Given the description of an element on the screen output the (x, y) to click on. 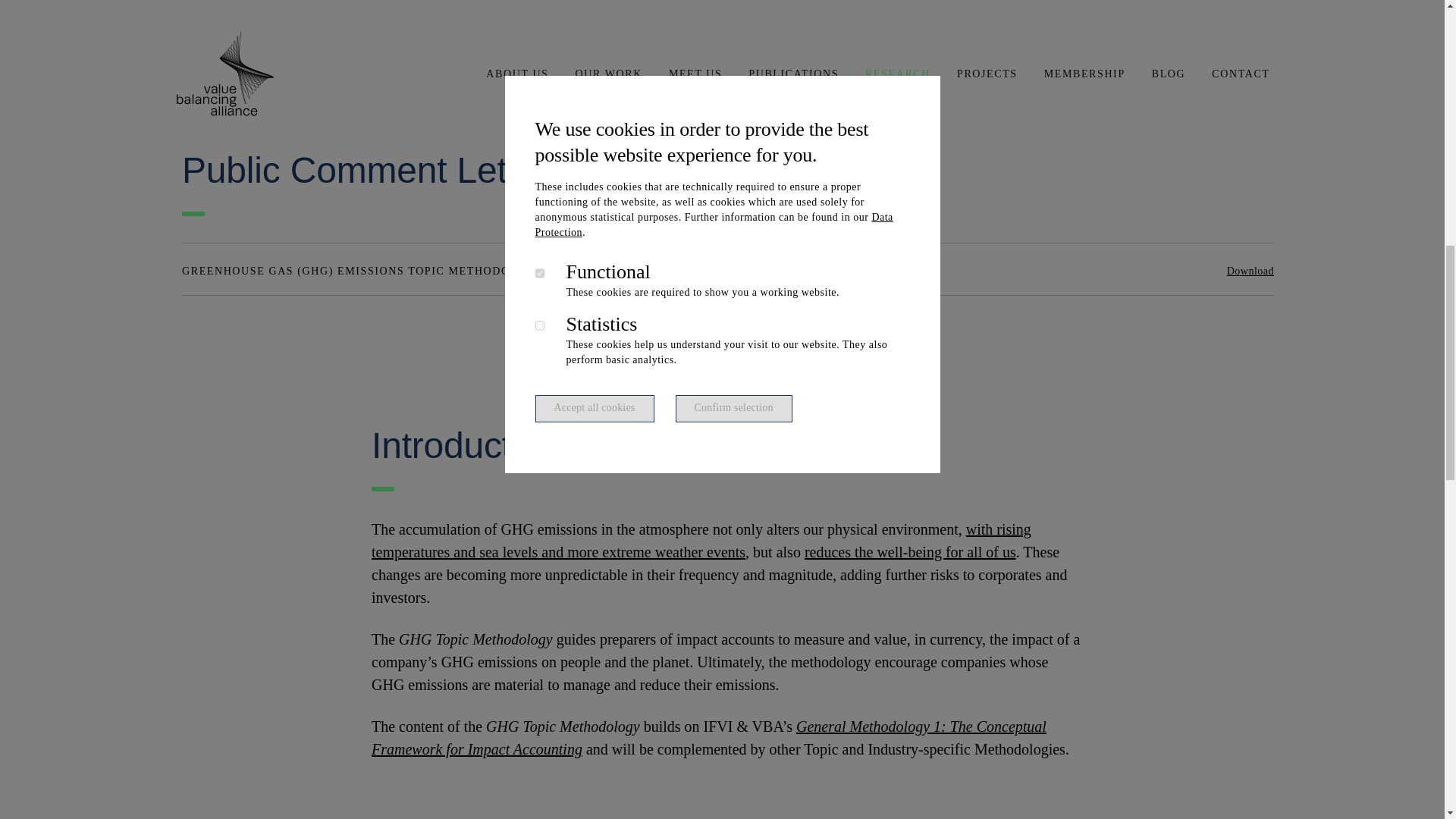
Explore more (230, 82)
reduces the well-being for all of us (910, 551)
Download (1250, 270)
